Given the description of an element on the screen output the (x, y) to click on. 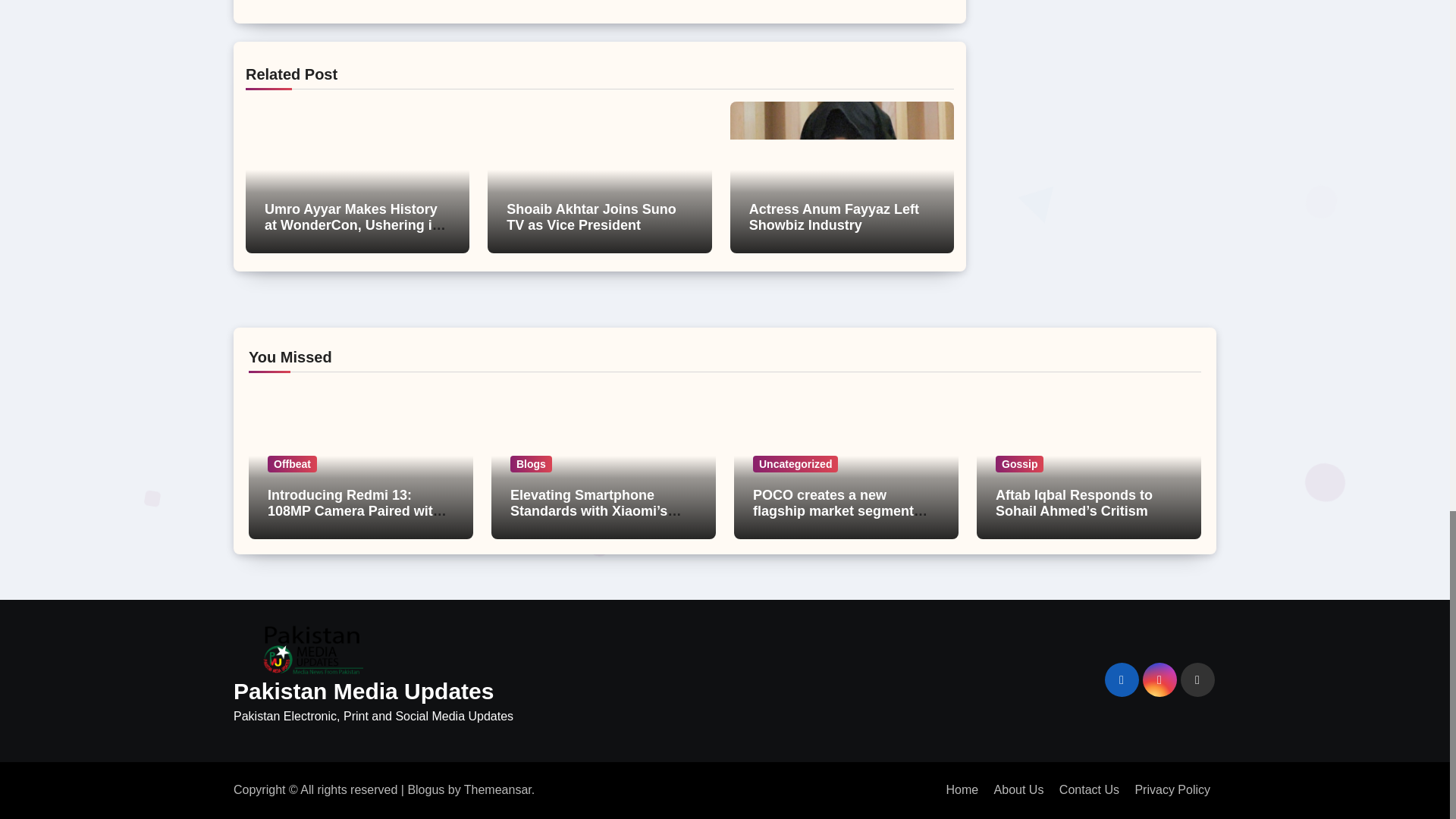
Permalink to: Actress Anum Fayyaz Left Showbiz Industry (833, 217)
Permalink to: Shoaib Akhtar Joins Suno TV as Vice President (590, 217)
Home (961, 789)
Actress Anum Fayyaz Left Showbiz Industry (833, 217)
Shoaib Akhtar Joins Suno TV as Vice President (590, 217)
